Given the description of an element on the screen output the (x, y) to click on. 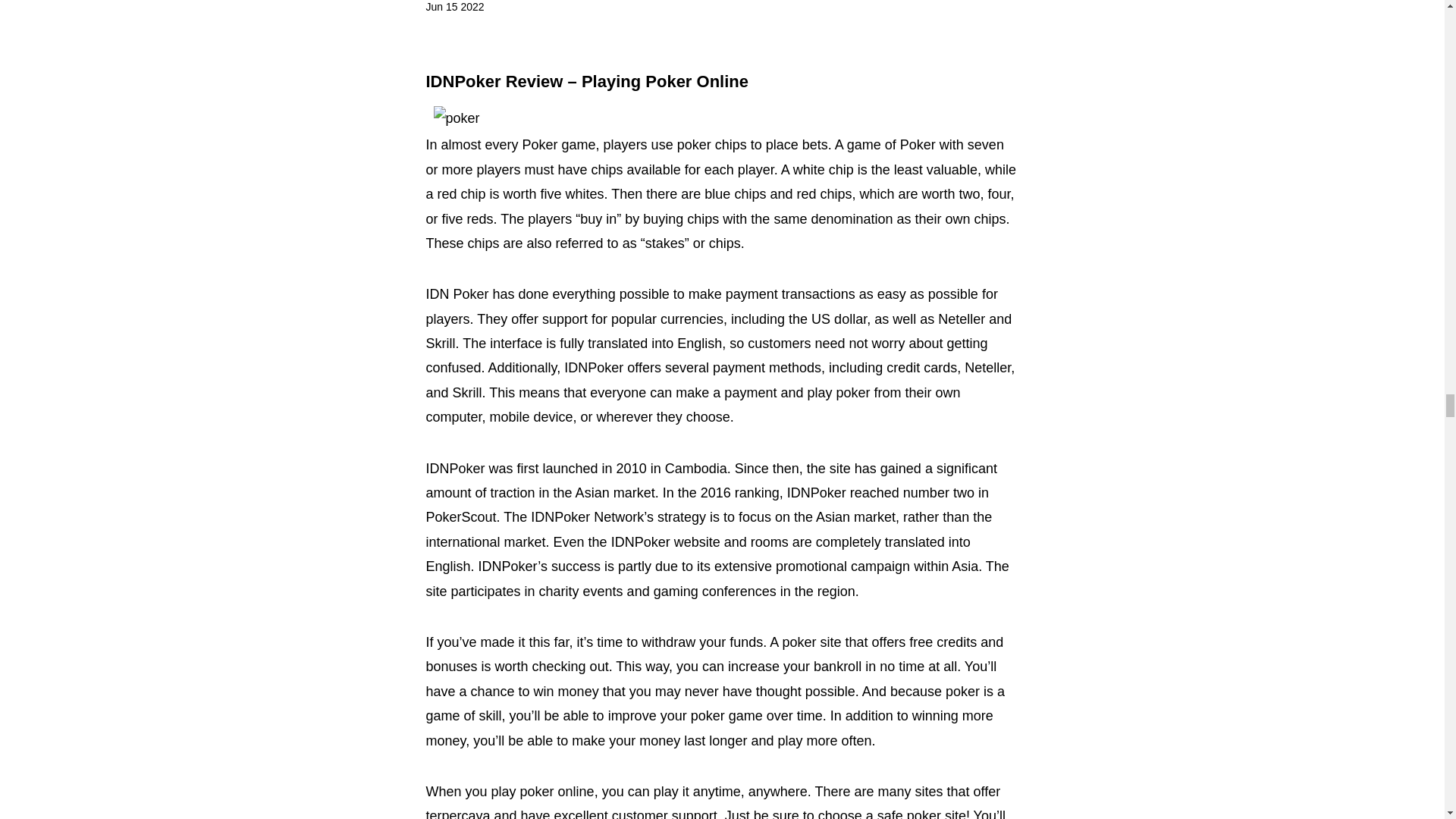
Jun 15 2022 (455, 8)
